Given the description of an element on the screen output the (x, y) to click on. 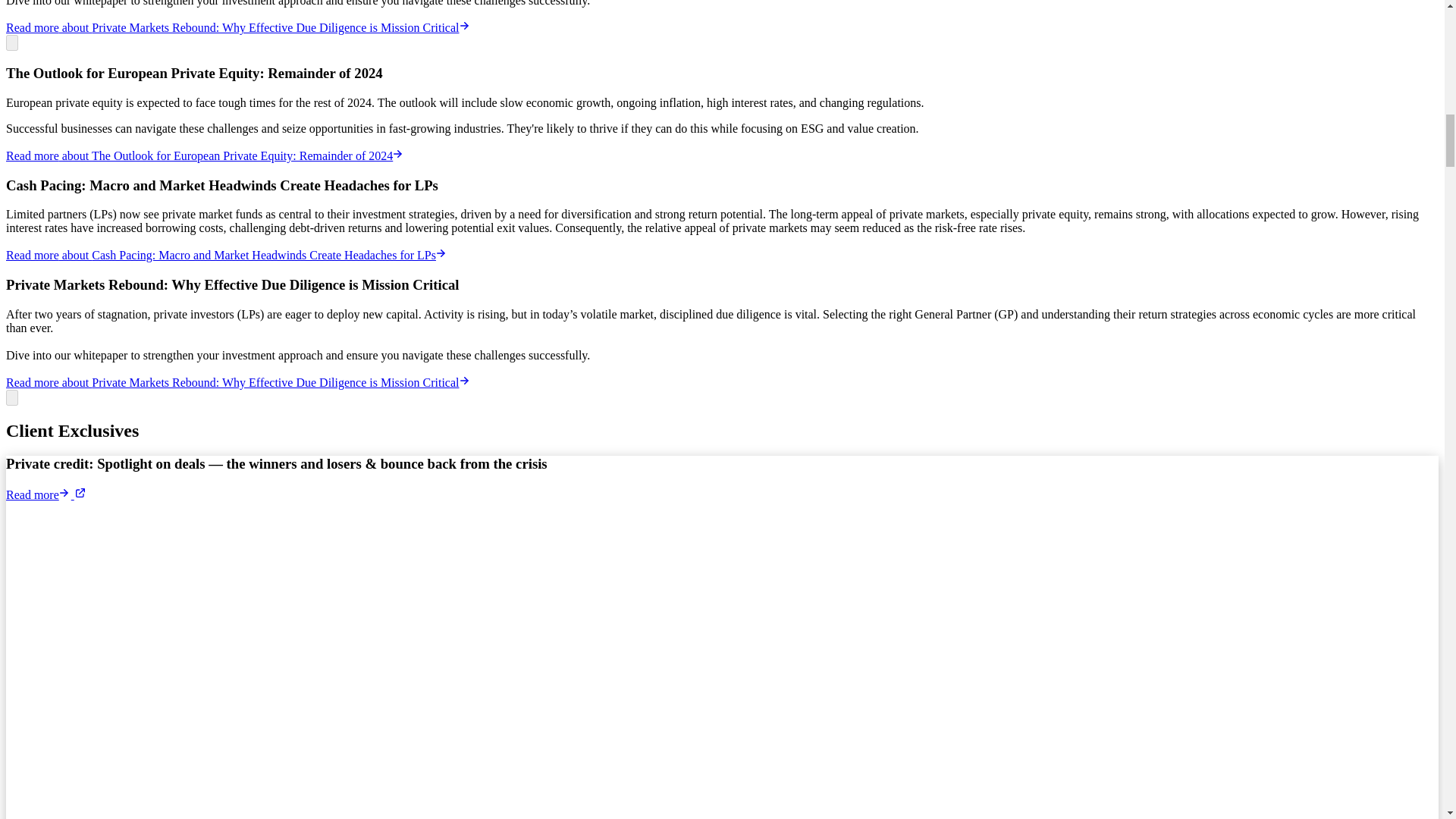
Read more (45, 494)
